Given the description of an element on the screen output the (x, y) to click on. 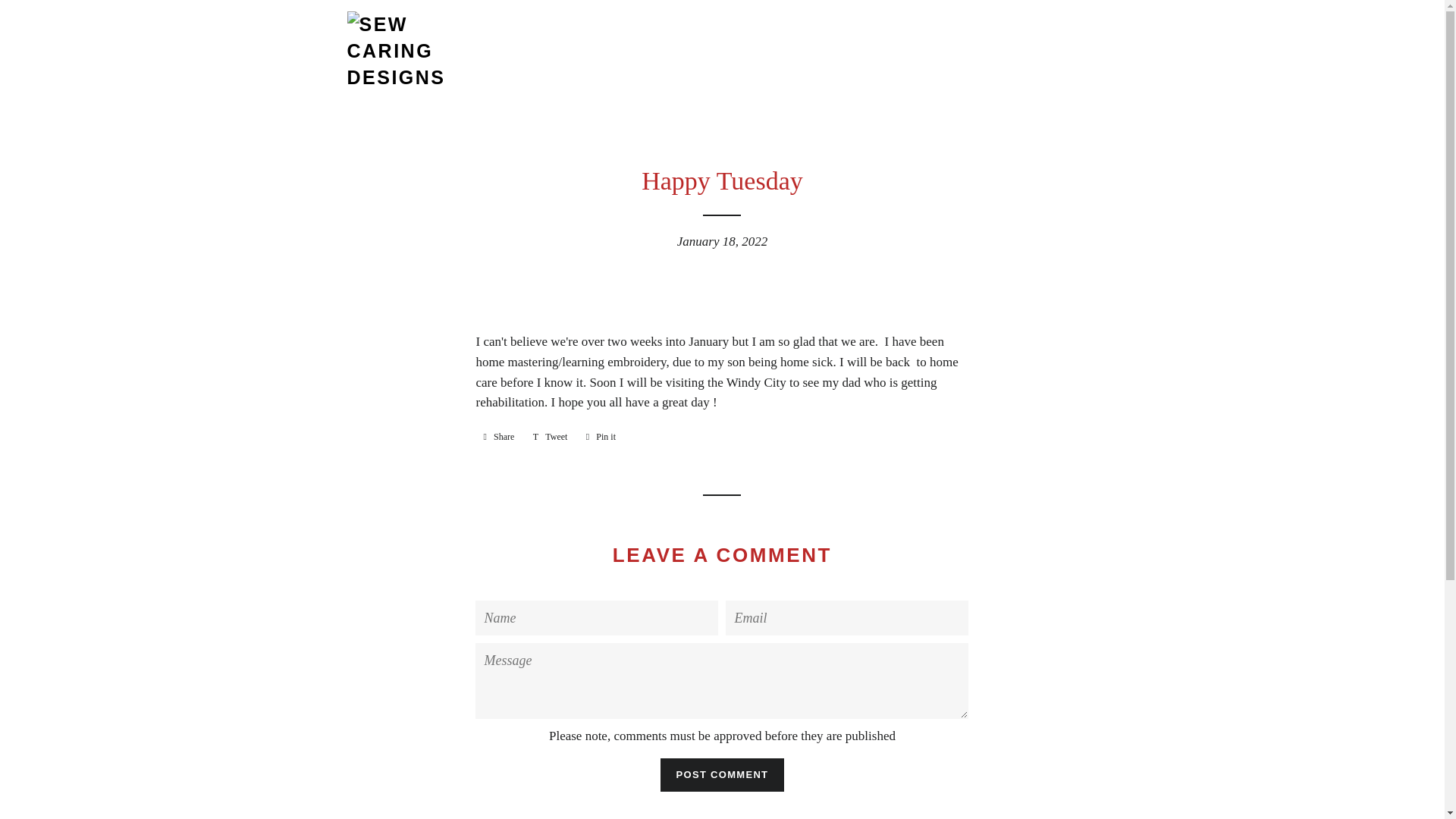
Post comment (498, 436)
Post comment (722, 774)
Tweet on Twitter (600, 436)
Pin on Pinterest (722, 774)
Share on Facebook (550, 436)
